Given the description of an element on the screen output the (x, y) to click on. 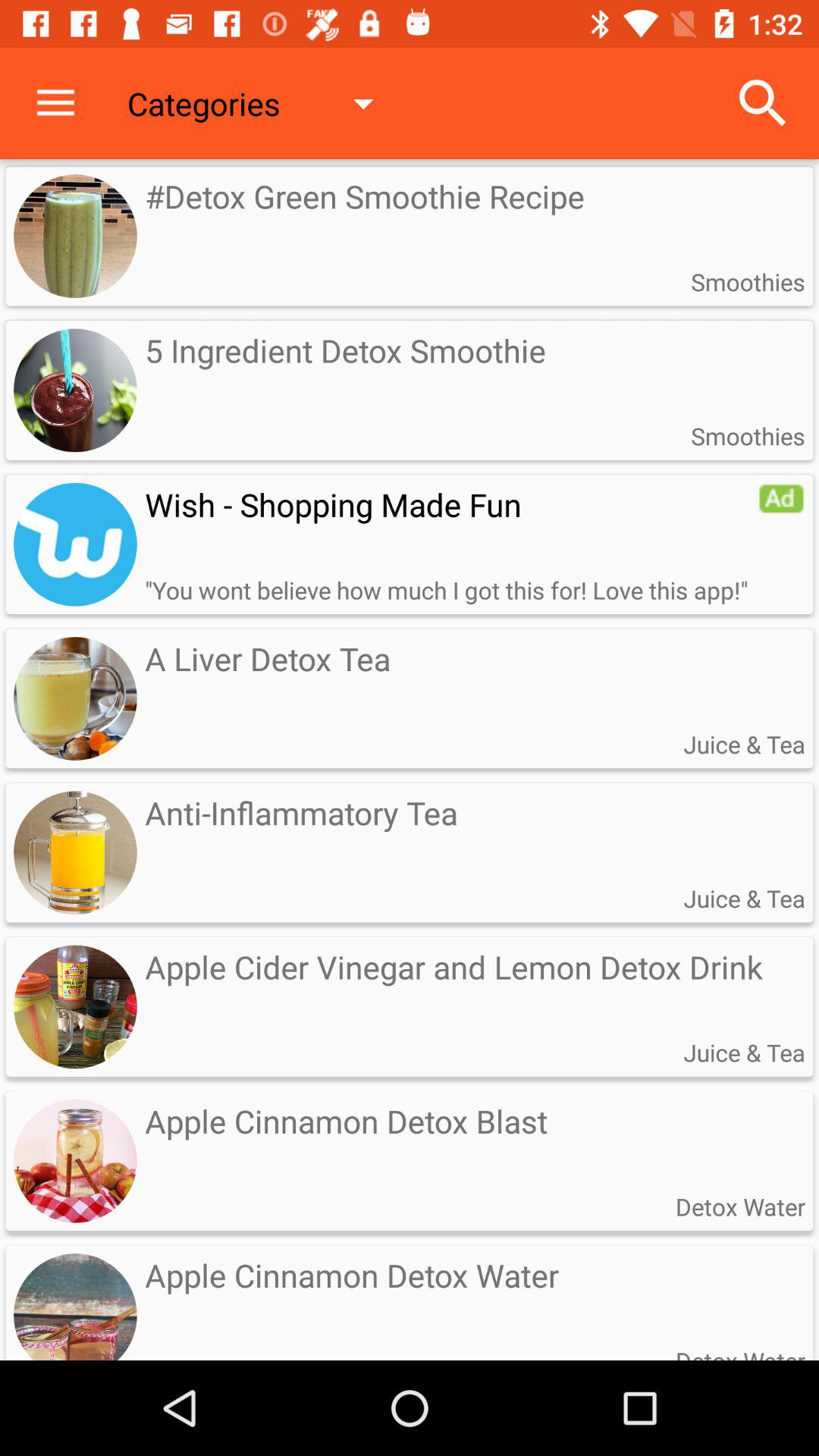
logo of wish app (75, 544)
